Given the description of an element on the screen output the (x, y) to click on. 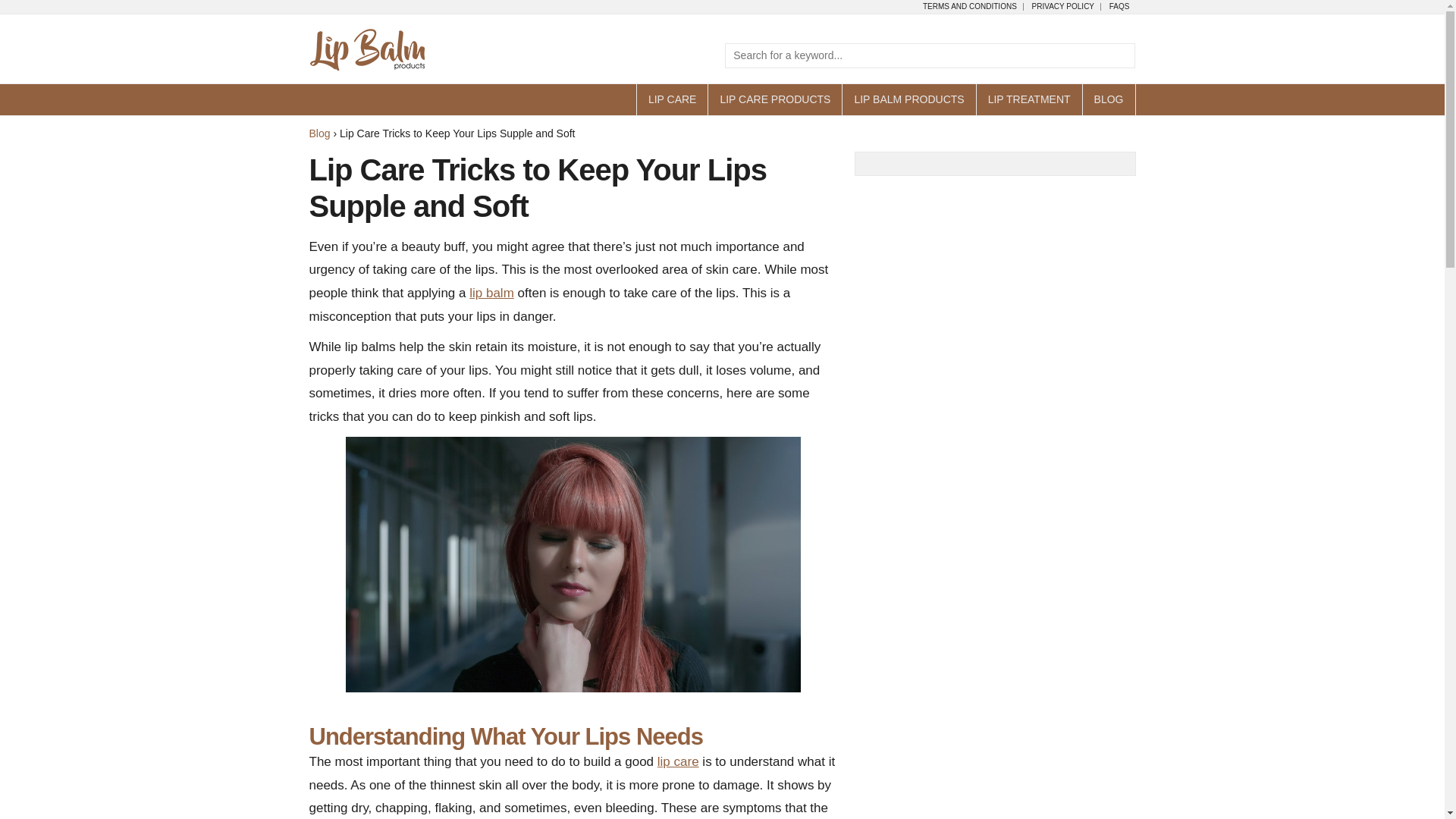
lip care (678, 761)
Search (428, 9)
BLOG (1108, 99)
lip balm (490, 292)
LIP CARE (671, 99)
FAQS (1119, 6)
LIP CARE PRODUCTS (774, 99)
LIP BALM PRODUCTS (908, 99)
TERMS AND CONDITIONS (970, 6)
Blog (319, 133)
PRIVACY POLICY (1063, 6)
Blog (319, 133)
LIP TREATMENT (1028, 99)
